Given the description of an element on the screen output the (x, y) to click on. 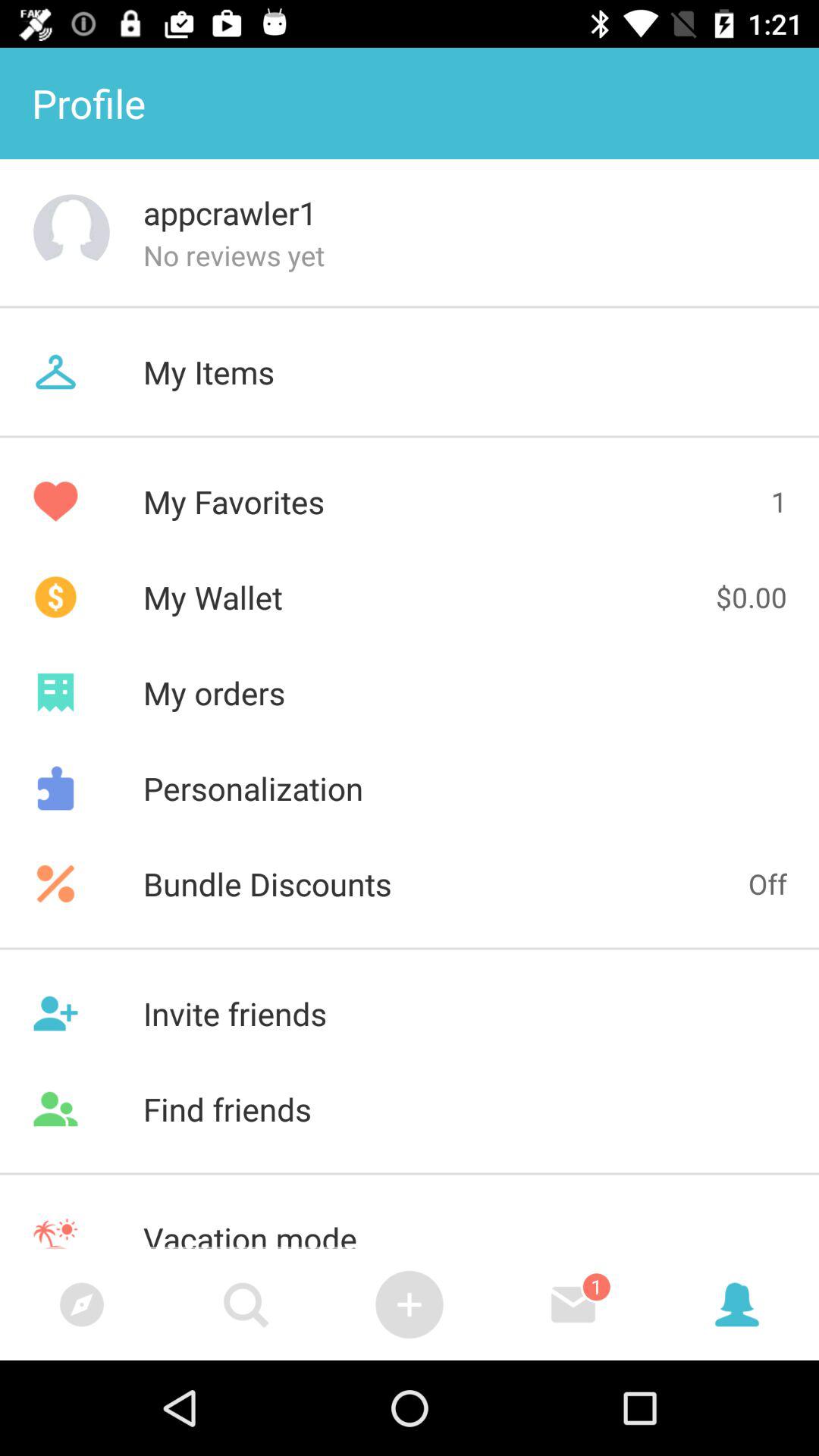
click vacation mode (409, 1219)
